Given the description of an element on the screen output the (x, y) to click on. 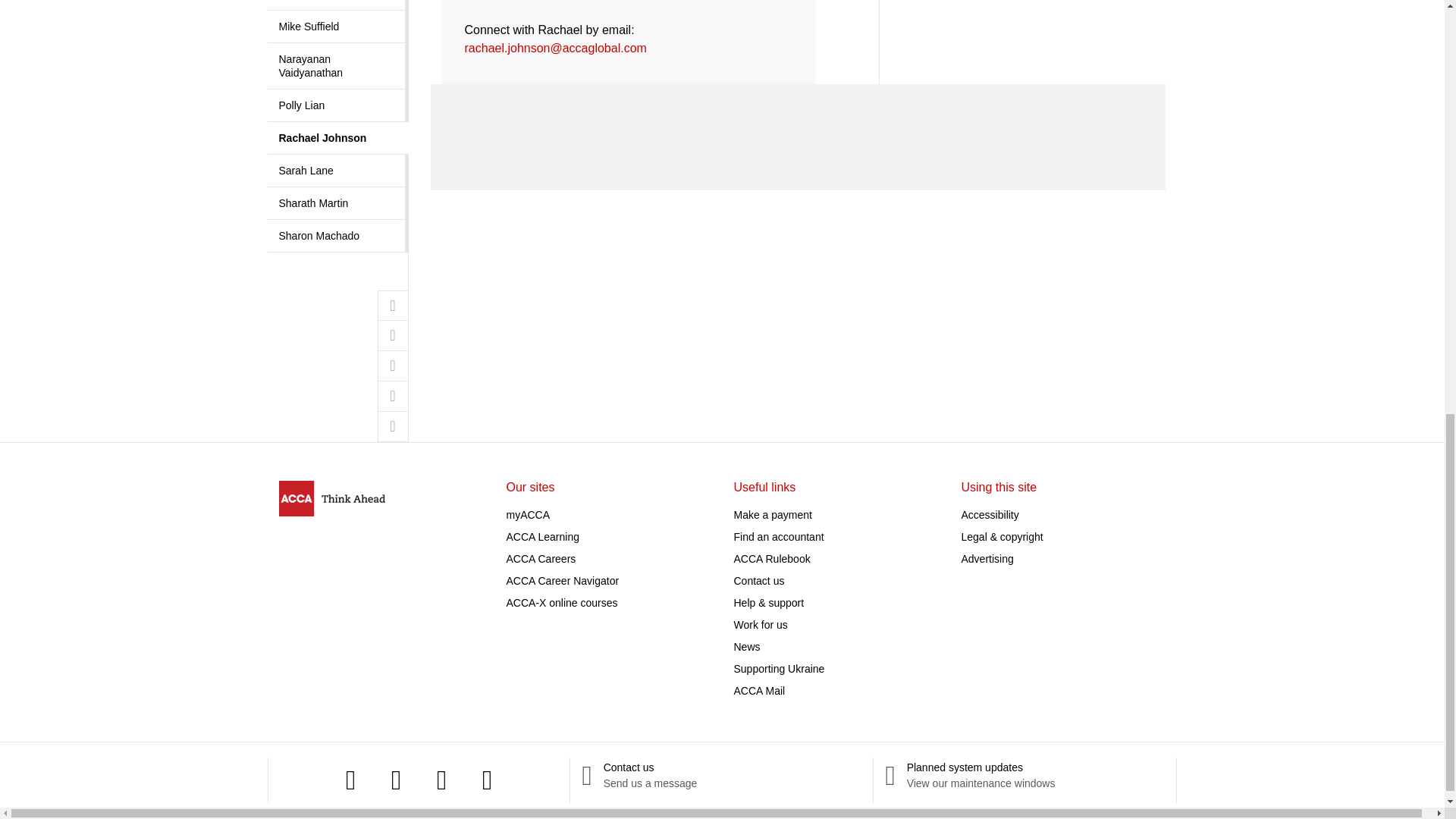
ACCA Mail (759, 690)
Make a payment (772, 514)
myACCA (528, 514)
Find an accountant (778, 536)
News (746, 646)
ACCA Rulebook (771, 558)
ACCA Careers (541, 558)
Work for us (760, 624)
ACCA Learning (542, 536)
Supporting Ukraine (779, 668)
ACCA-X online courses (561, 603)
ACCA Career Navigator (563, 580)
Contact us (758, 580)
Accessibility (989, 514)
